Given the description of an element on the screen output the (x, y) to click on. 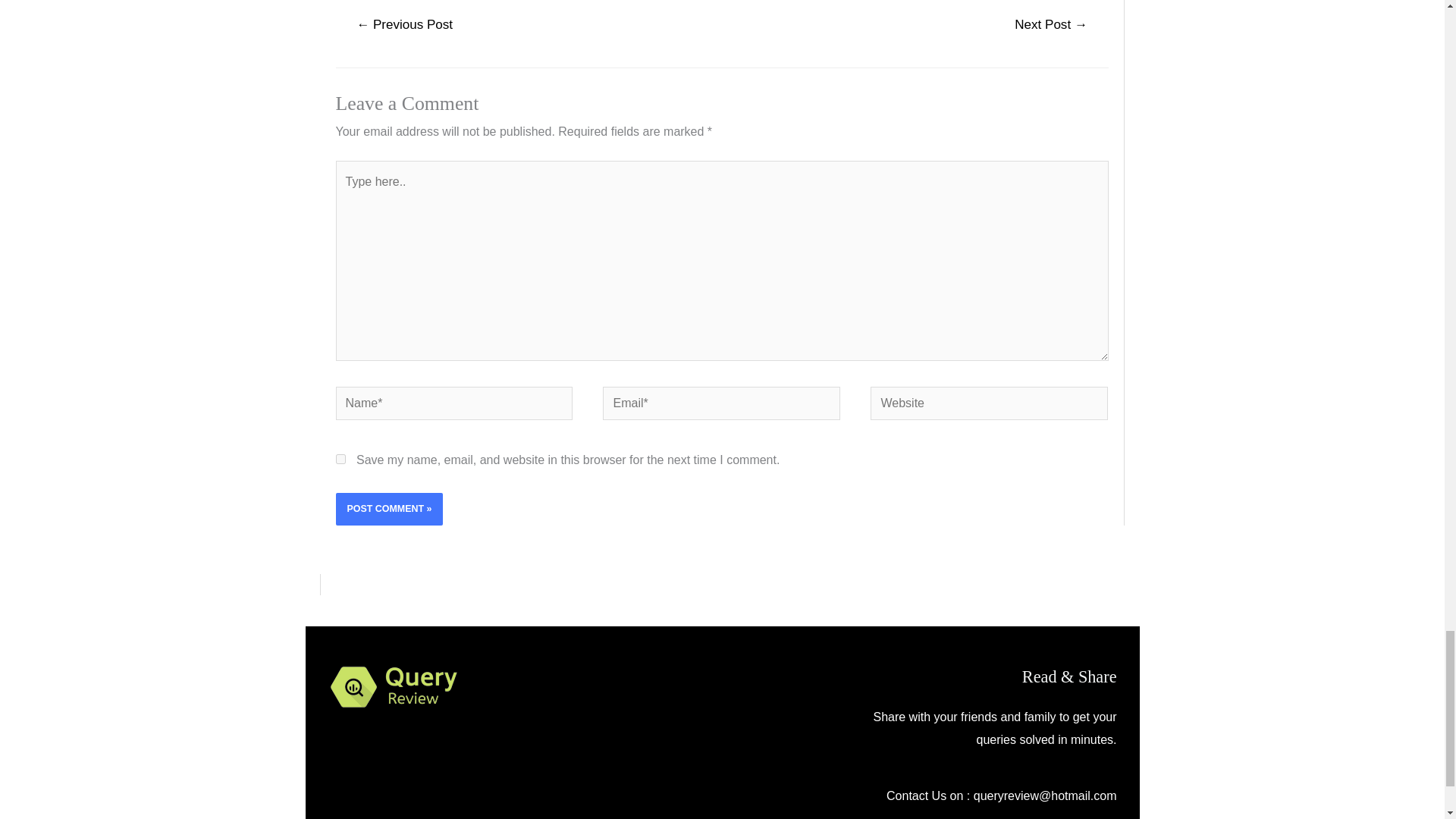
yes (339, 459)
